Given the description of an element on the screen output the (x, y) to click on. 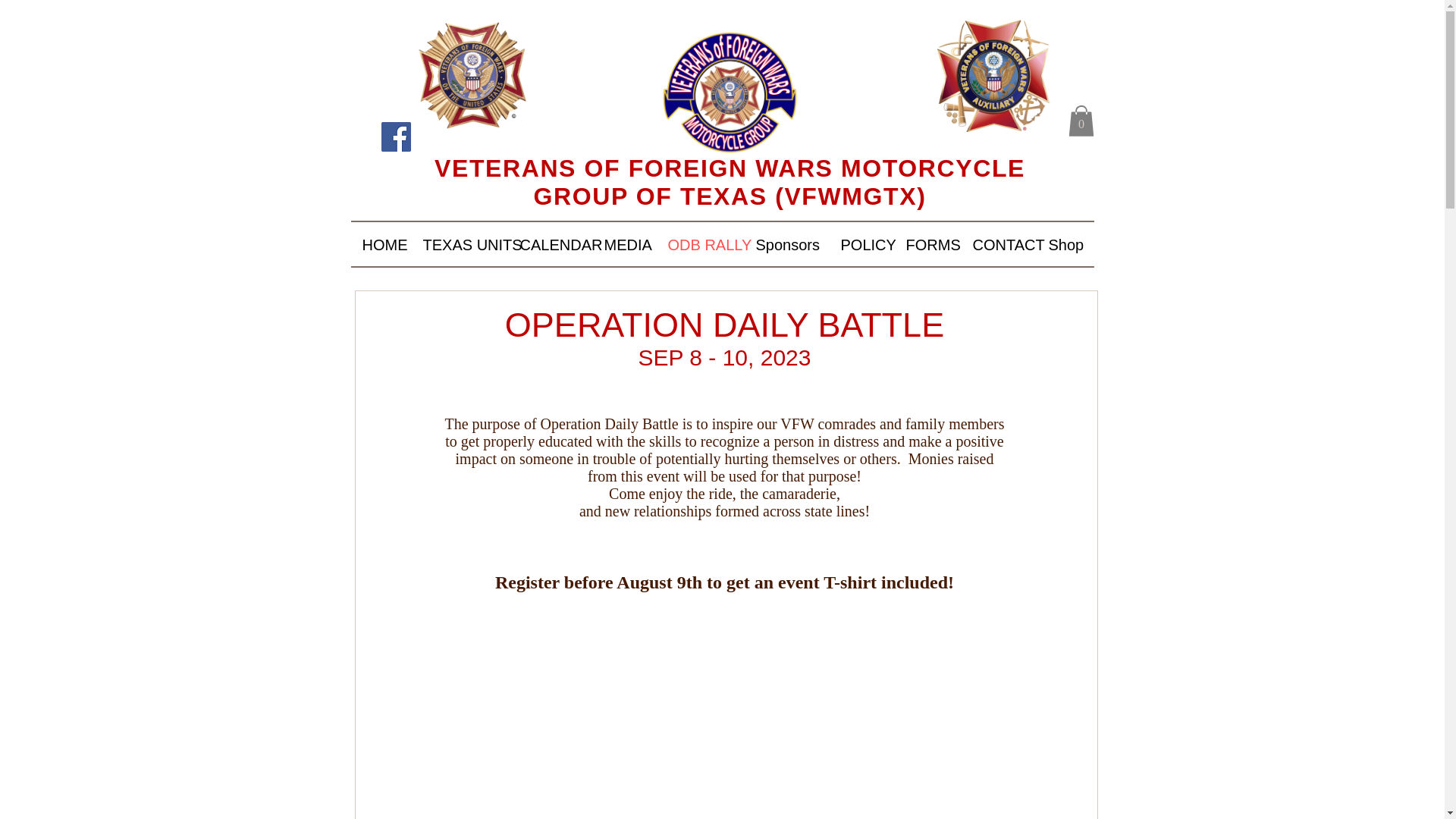
HOME (380, 245)
Shop (1065, 245)
Sponsors (786, 245)
CONTACT (998, 245)
MEDIA (624, 245)
TEXAS UNITS (459, 245)
ODB RALLY (700, 245)
Facebook Like (439, 142)
FORMS (927, 245)
CALENDAR (550, 245)
POLICY (862, 245)
